Given the description of an element on the screen output the (x, y) to click on. 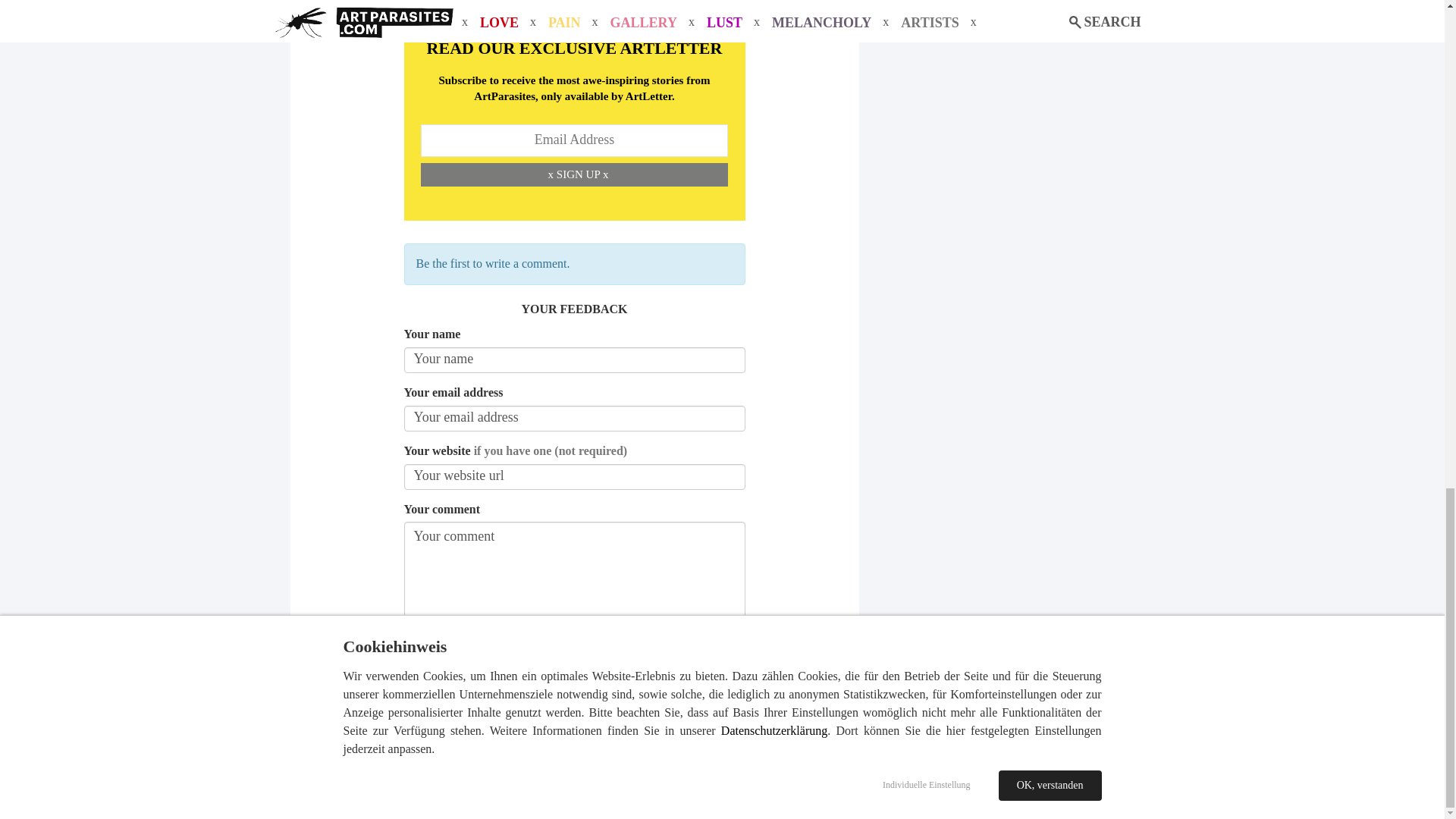
Disclaimer (799, 782)
Submit comment (573, 689)
x SIGN UP x (577, 174)
Imprint (739, 782)
ADVERTISE WITH US (662, 782)
IMPRINT (739, 782)
DISCLAIMER (799, 782)
Submit comment (573, 689)
ADVERTISE WITH US (662, 782)
